Given the description of an element on the screen output the (x, y) to click on. 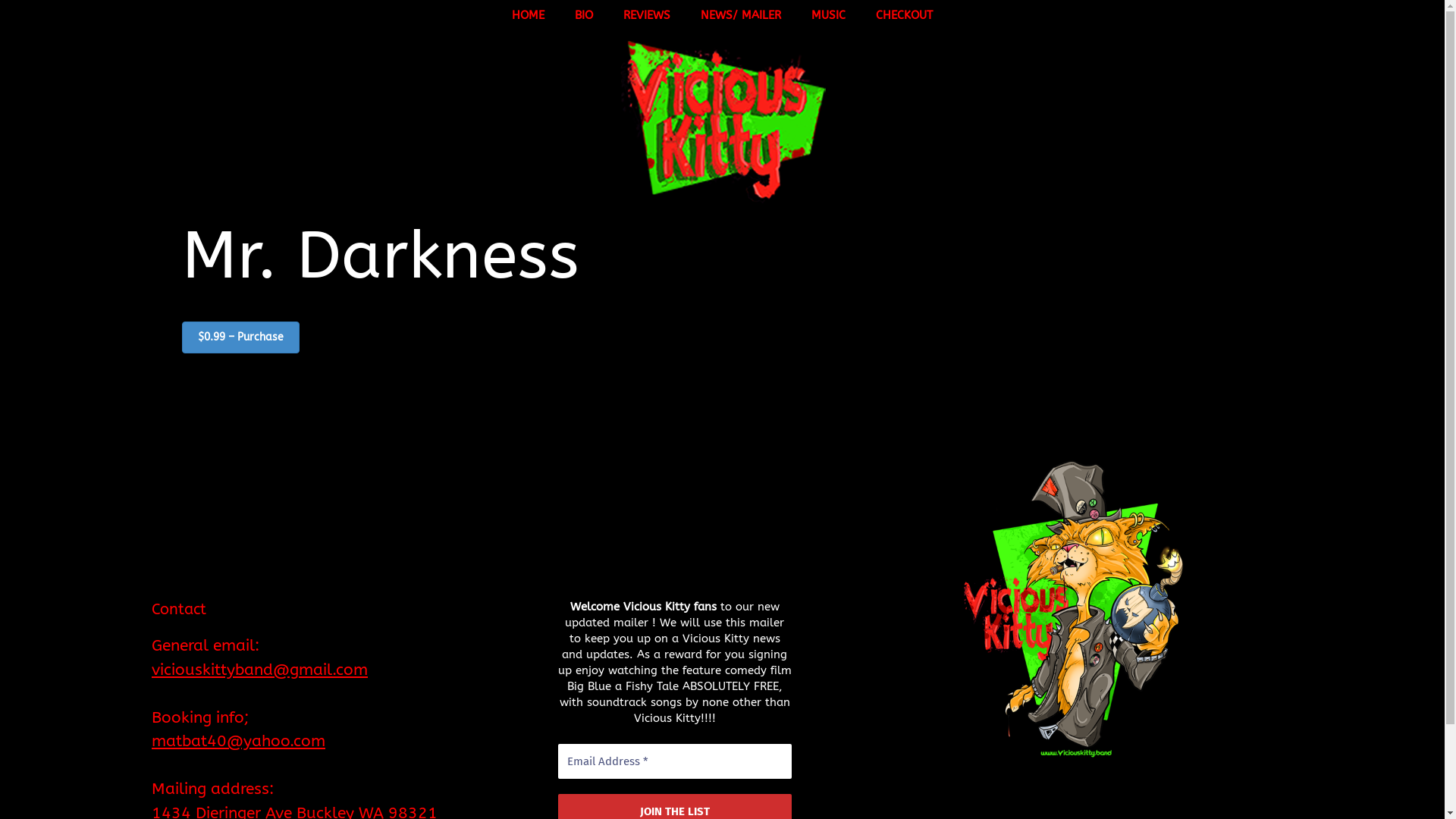
HOME Element type: text (527, 15)
YouTube video player Element type: hover (265, 511)
MUSIC Element type: text (828, 15)
Email Address Element type: hover (674, 761)
viciouskittyband@gmail.com Element type: text (259, 669)
matbat40@yahoo.com Element type: text (238, 740)
YouTube video player Element type: hover (655, 511)
BIO Element type: text (583, 15)
NEWS/ MAILER Element type: text (740, 15)
REVIEWS Element type: text (646, 15)
CHECKOUT Element type: text (903, 15)
